Given the description of an element on the screen output the (x, y) to click on. 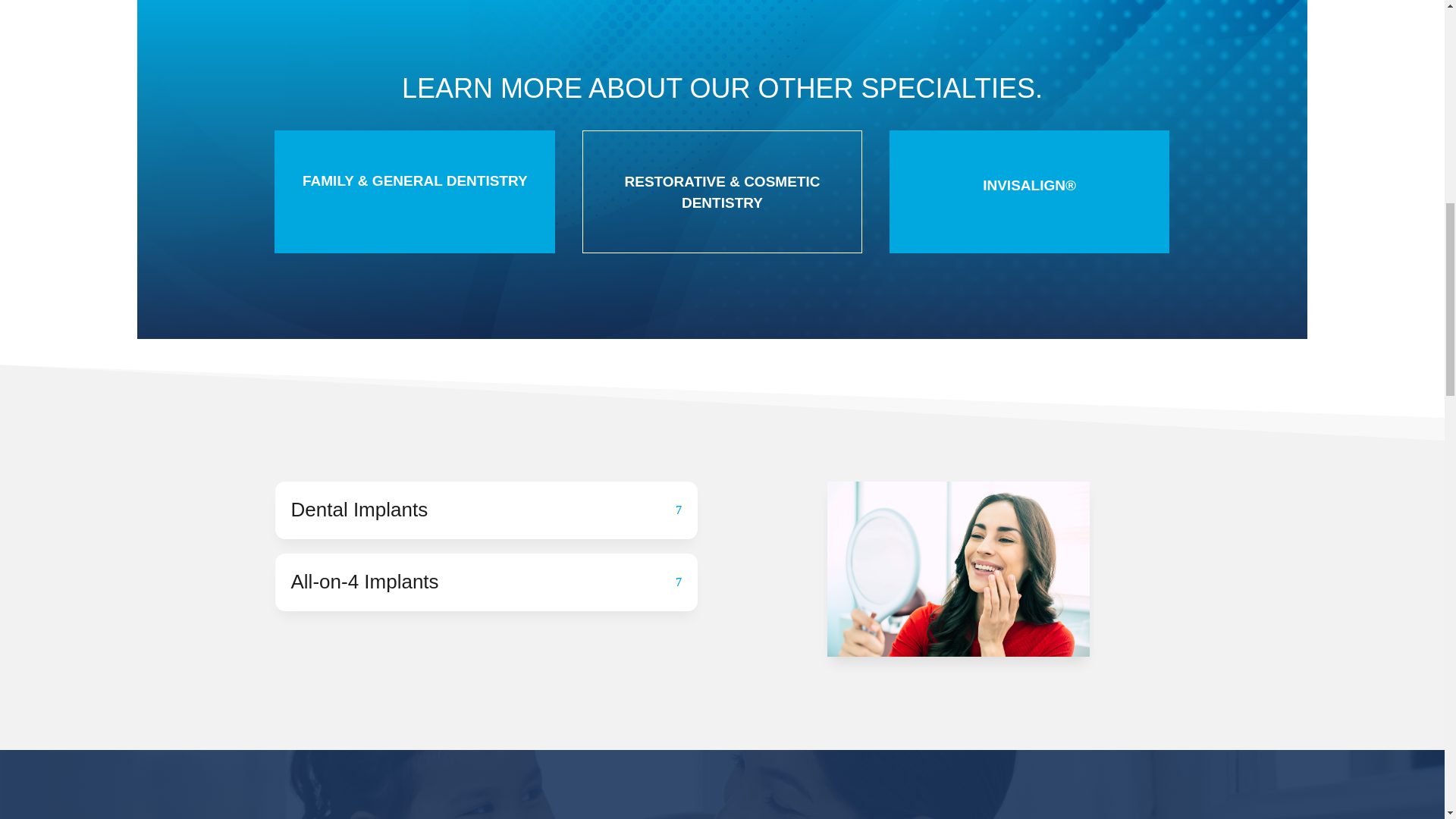
255687408 (958, 568)
